Given the description of an element on the screen output the (x, y) to click on. 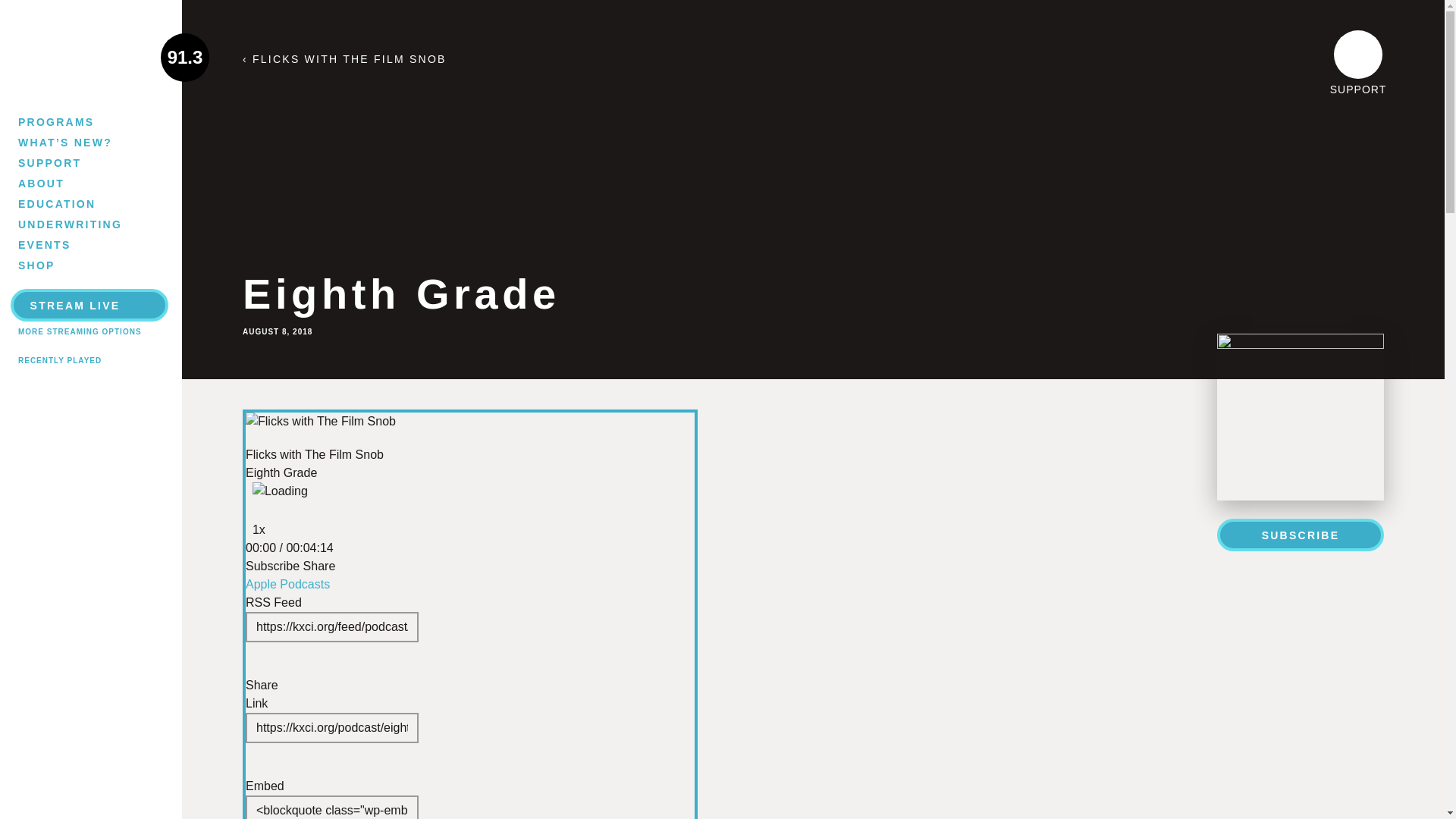
EVENTS (72, 244)
STREAM LIVE (89, 305)
SUBSCRIBE (1300, 534)
RSS Feed URL (332, 626)
Share (319, 566)
ABOUT (72, 182)
UNDERWRITING (72, 223)
Apple Podcasts (288, 584)
Flicks with The Film Snob (321, 421)
Subscribe (272, 566)
SHOP (72, 264)
EDUCATION (72, 203)
Home (90, 57)
91.3 (90, 57)
Episode URL (332, 727)
